Given the description of an element on the screen output the (x, y) to click on. 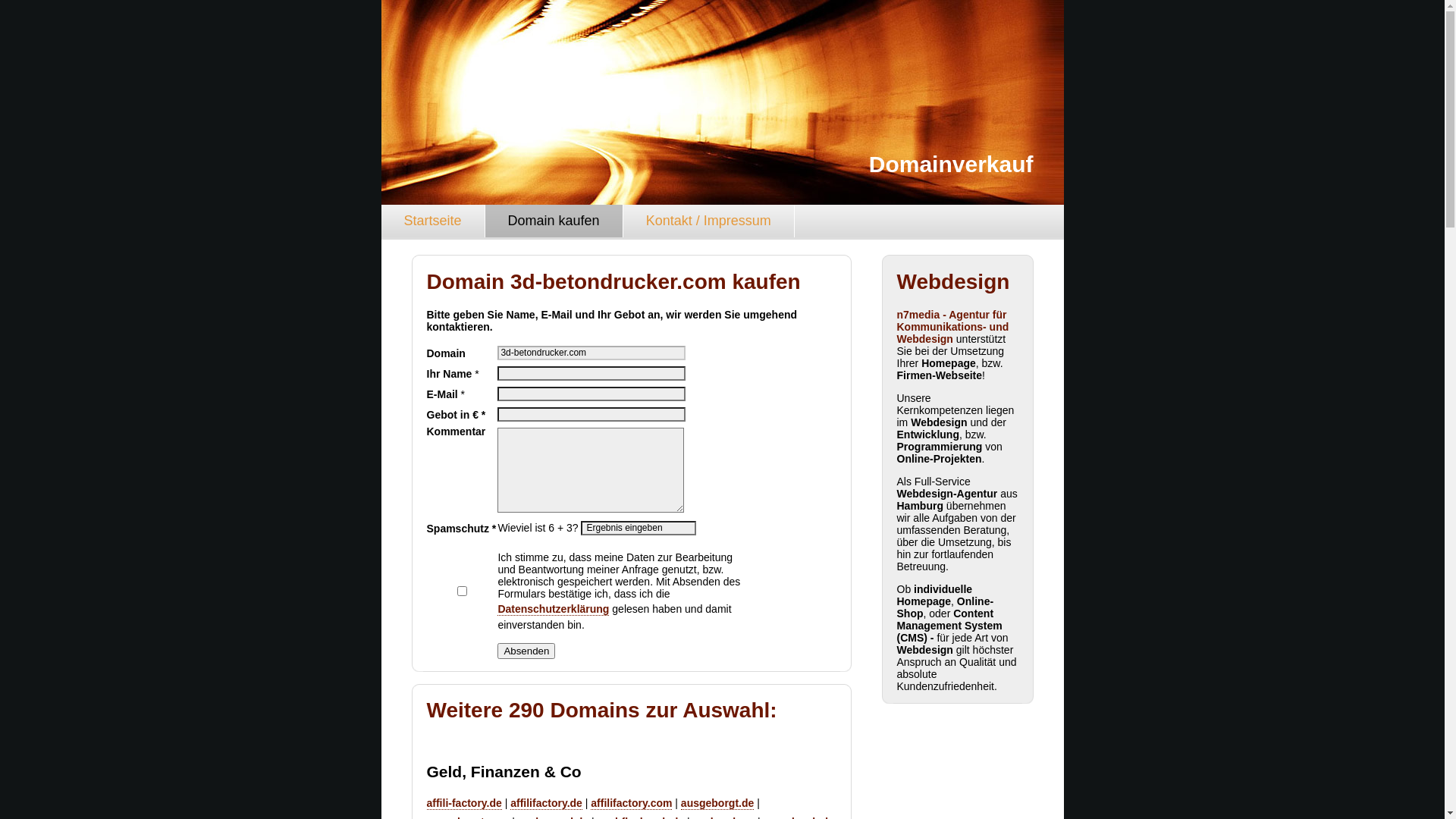
affili-factory.de Element type: text (463, 803)
Domain kaufen Element type: text (554, 220)
ausgeborgt.de Element type: text (716, 803)
Absenden Element type: text (526, 650)
affilifactory.de Element type: text (546, 803)
Ergebnis eingeben Element type: text (638, 527)
Startseite Element type: text (432, 220)
Kontakt / Impressum Element type: text (708, 220)
affilifactory.com Element type: text (630, 803)
